Given the description of an element on the screen output the (x, y) to click on. 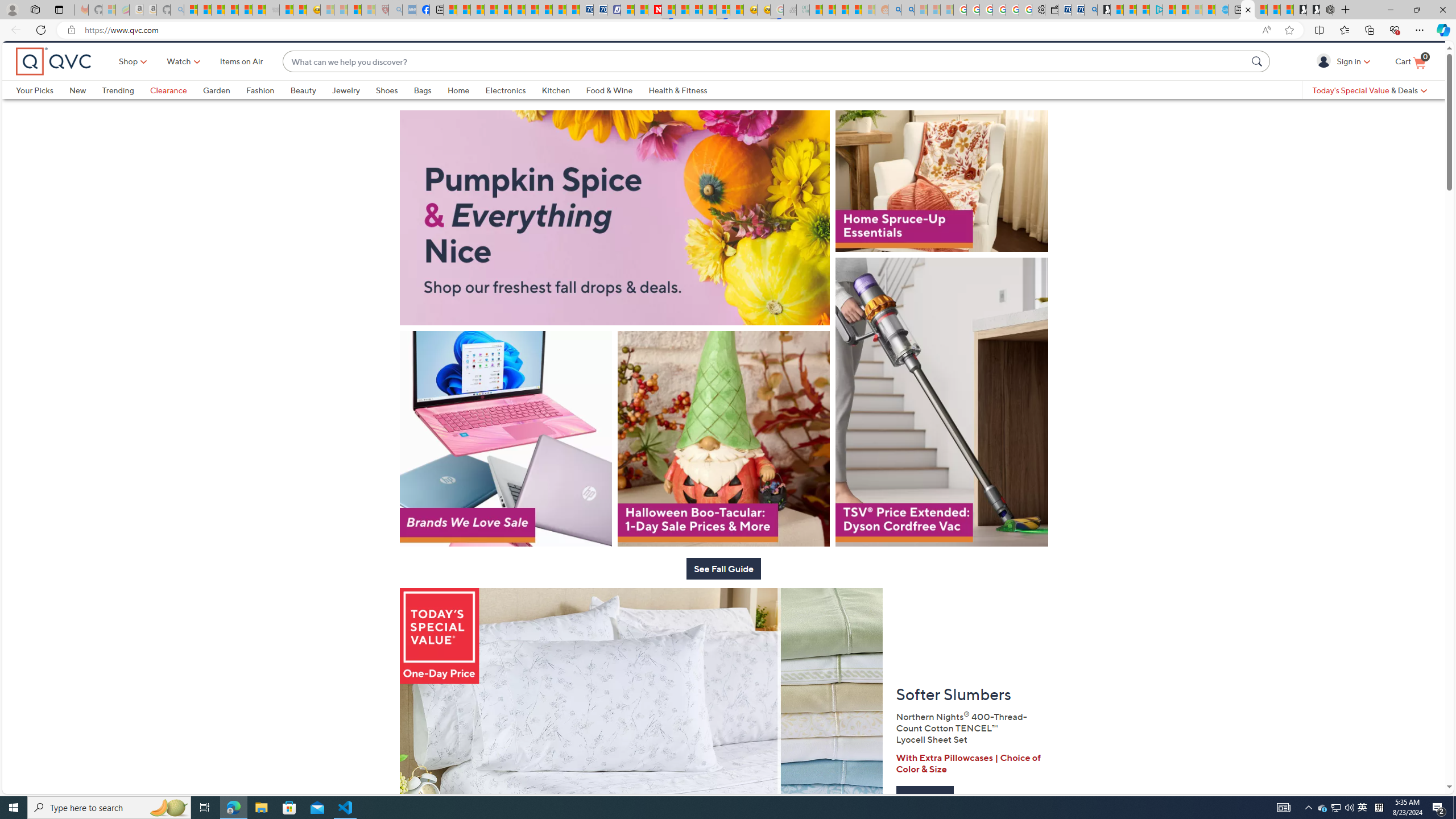
New (76, 109)
Food & Wine (617, 109)
The Weather Channel - MSN (218, 9)
Sign in (1325, 80)
Items on Air (241, 80)
